Given the description of an element on the screen output the (x, y) to click on. 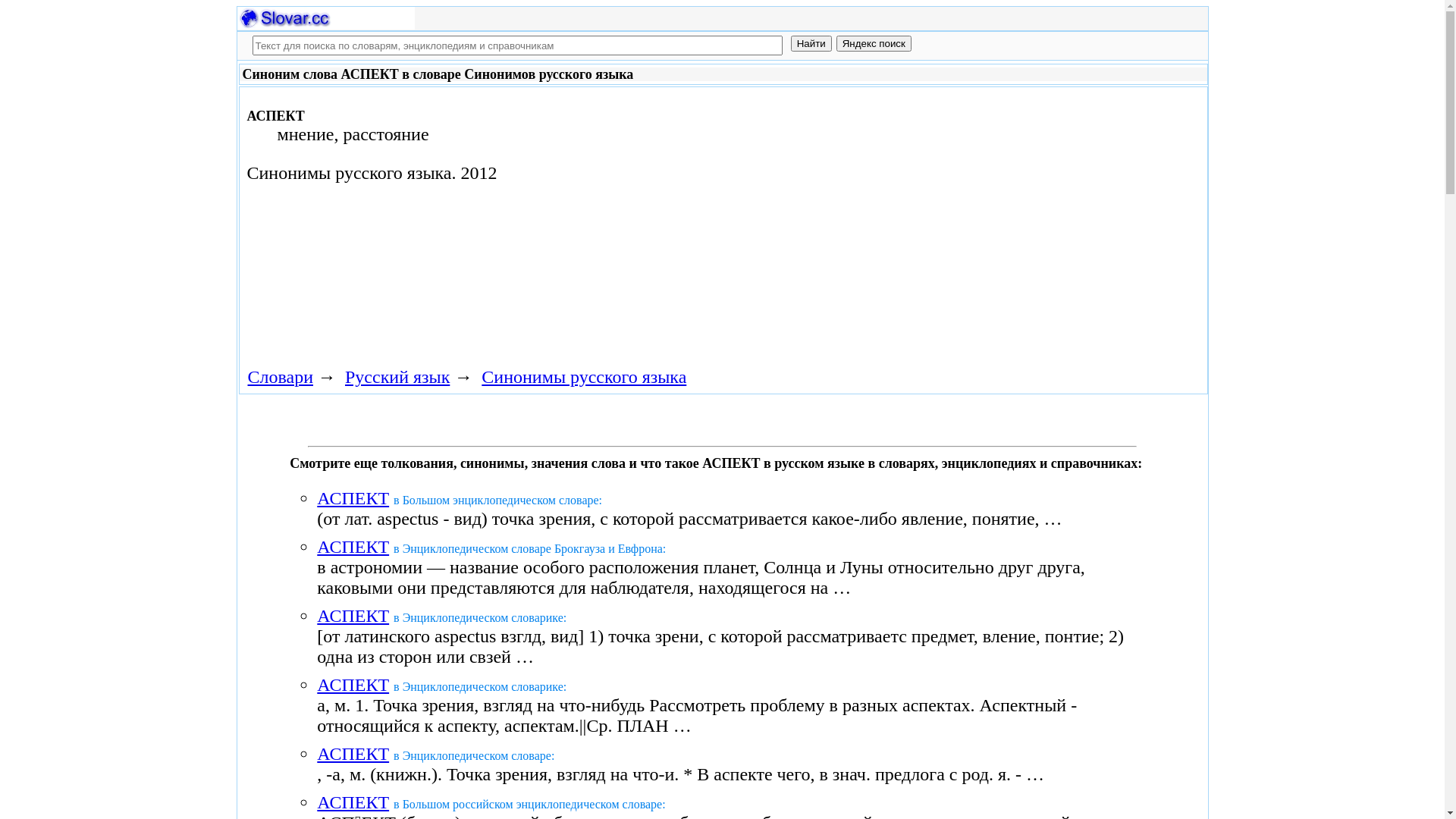
Advertisement Element type: hover (631, 213)
